Given the description of an element on the screen output the (x, y) to click on. 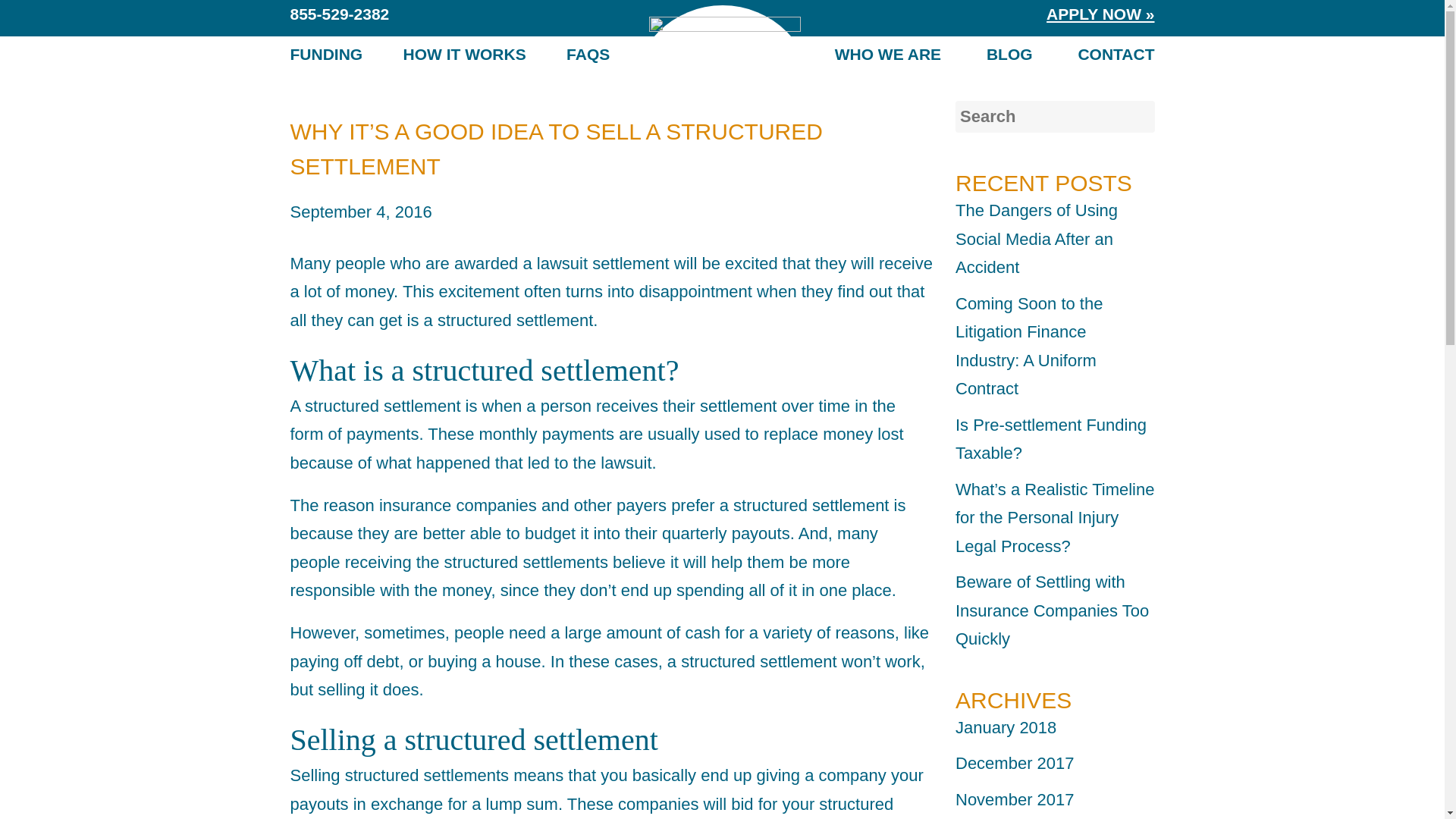
CONTACT (1115, 52)
Search (111, 16)
FUNDING (325, 52)
Resolution Funding (721, 41)
Search for: (1054, 115)
December 2017 (1014, 763)
BLOG (1009, 52)
WHO WE ARE (887, 52)
January 2018 (1006, 727)
resolution-funding-logo (724, 49)
